Given the description of an element on the screen output the (x, y) to click on. 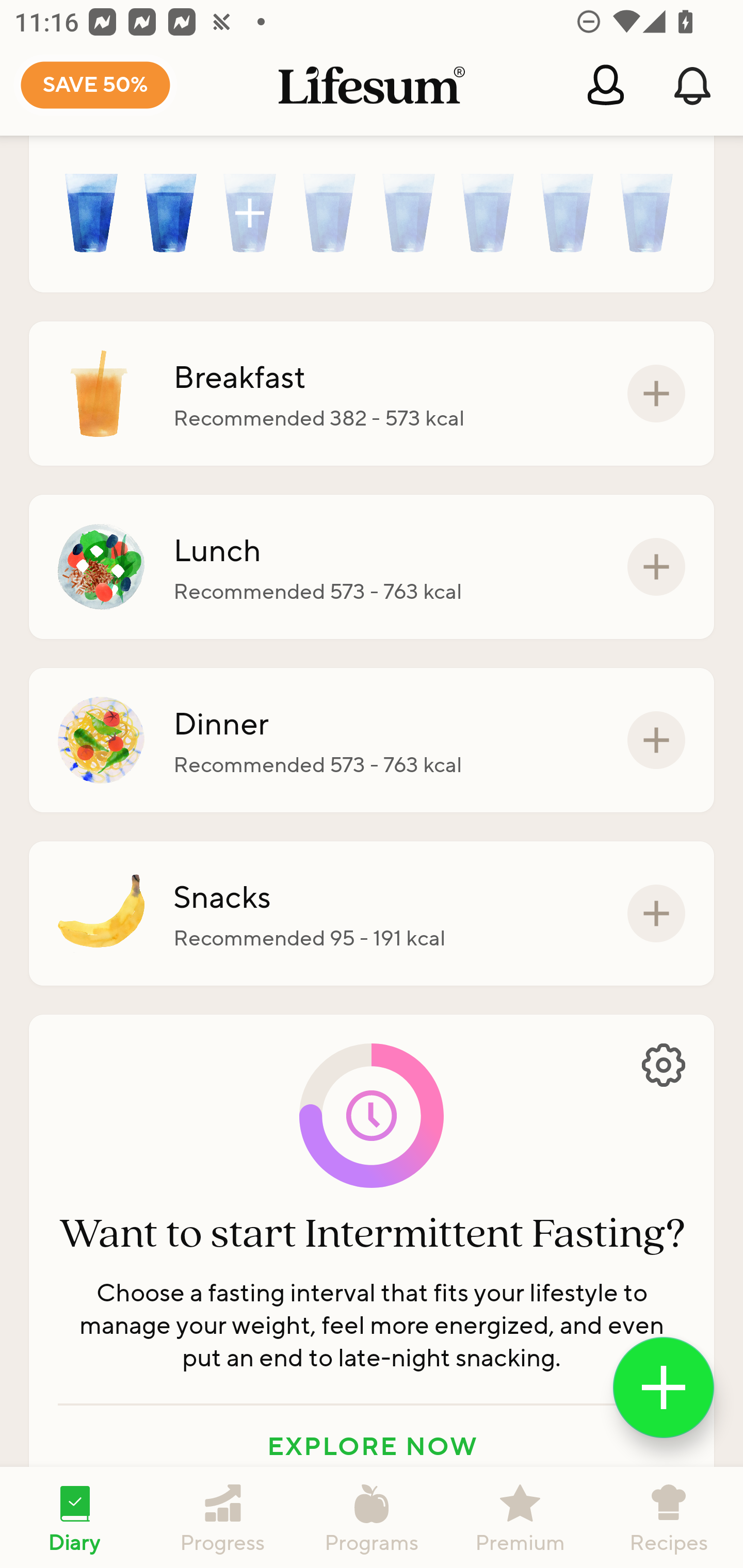
Breakfast Recommended 382 - 573 kcal (371, 393)
Lunch Recommended 573 - 763 kcal (371, 566)
Dinner Recommended 573 - 763 kcal (371, 739)
Snacks Recommended 95 - 191 kcal (371, 914)
EXPLORE NOW (371, 1444)
Progress (222, 1517)
Programs (371, 1517)
Premium (519, 1517)
Recipes (668, 1517)
